Given the description of an element on the screen output the (x, y) to click on. 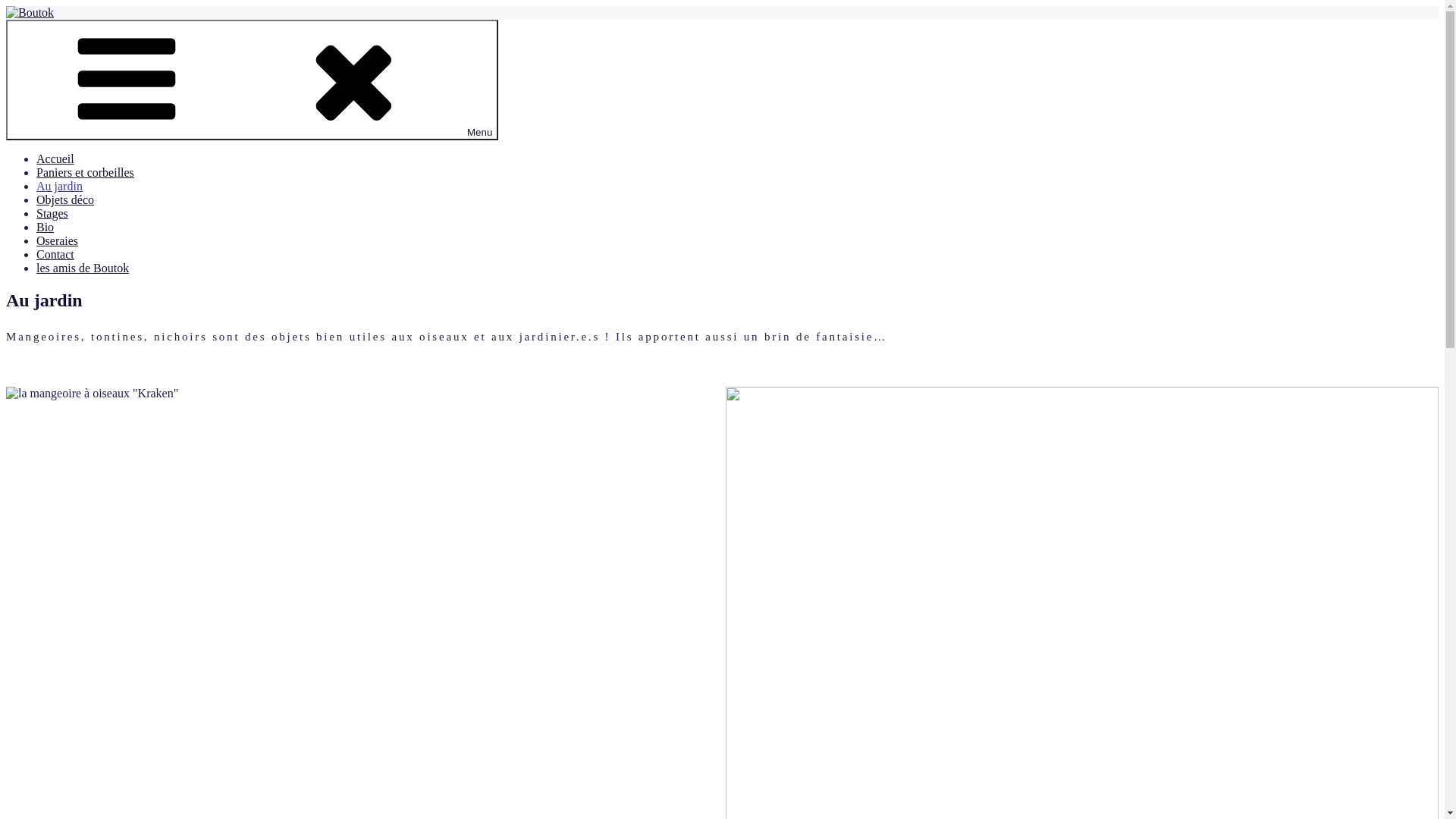
Accueil Element type: text (55, 158)
Contact Element type: text (55, 253)
Aller au contenu principal Element type: text (5, 5)
Menu Element type: text (252, 79)
Oseraies Element type: text (57, 240)
Stages Element type: text (52, 213)
Au jardin Element type: text (59, 185)
Paniers et corbeilles Element type: text (85, 172)
les amis de Boutok Element type: text (82, 267)
Boutok Element type: text (23, 37)
Bio Element type: text (44, 226)
